Given the description of an element on the screen output the (x, y) to click on. 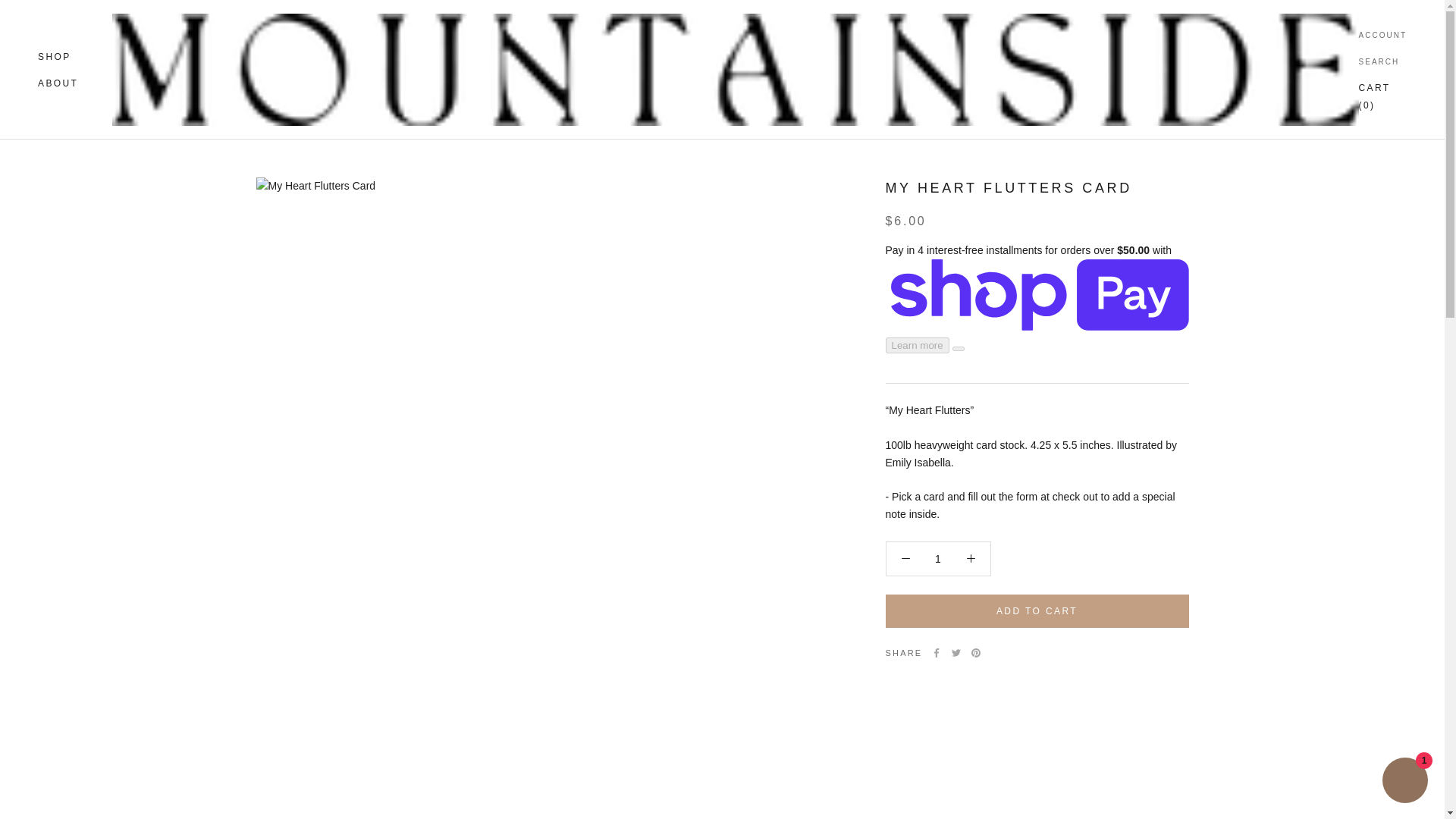
Shopify online store chat (54, 56)
1 (1404, 781)
